Given the description of an element on the screen output the (x, y) to click on. 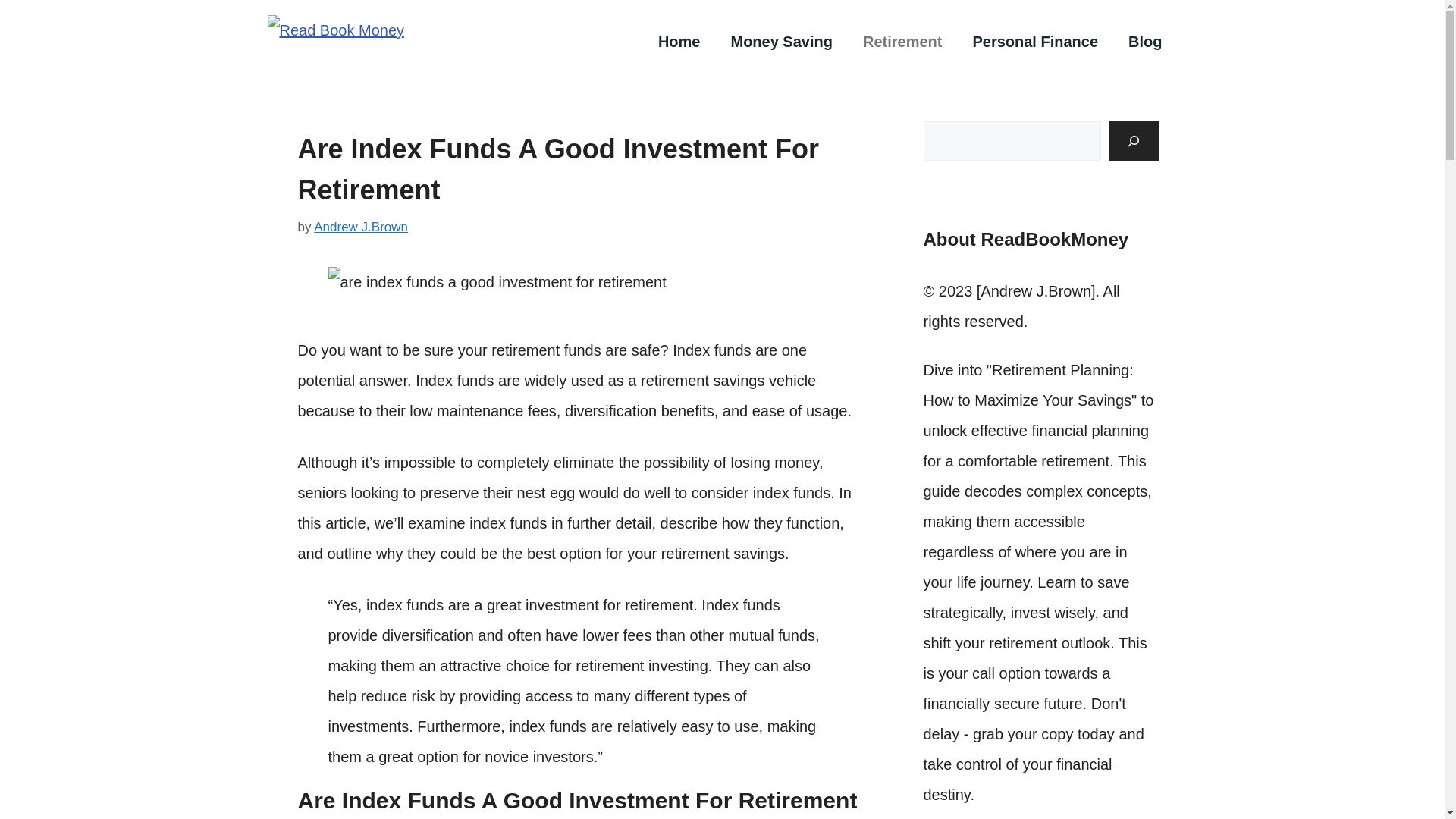
Money Saving (780, 41)
Blog (1144, 41)
Home (679, 41)
View all posts by Andrew J.Brown (360, 227)
Personal Finance (1034, 41)
Retirement (901, 41)
Andrew J.Brown (360, 227)
